Given the description of an element on the screen output the (x, y) to click on. 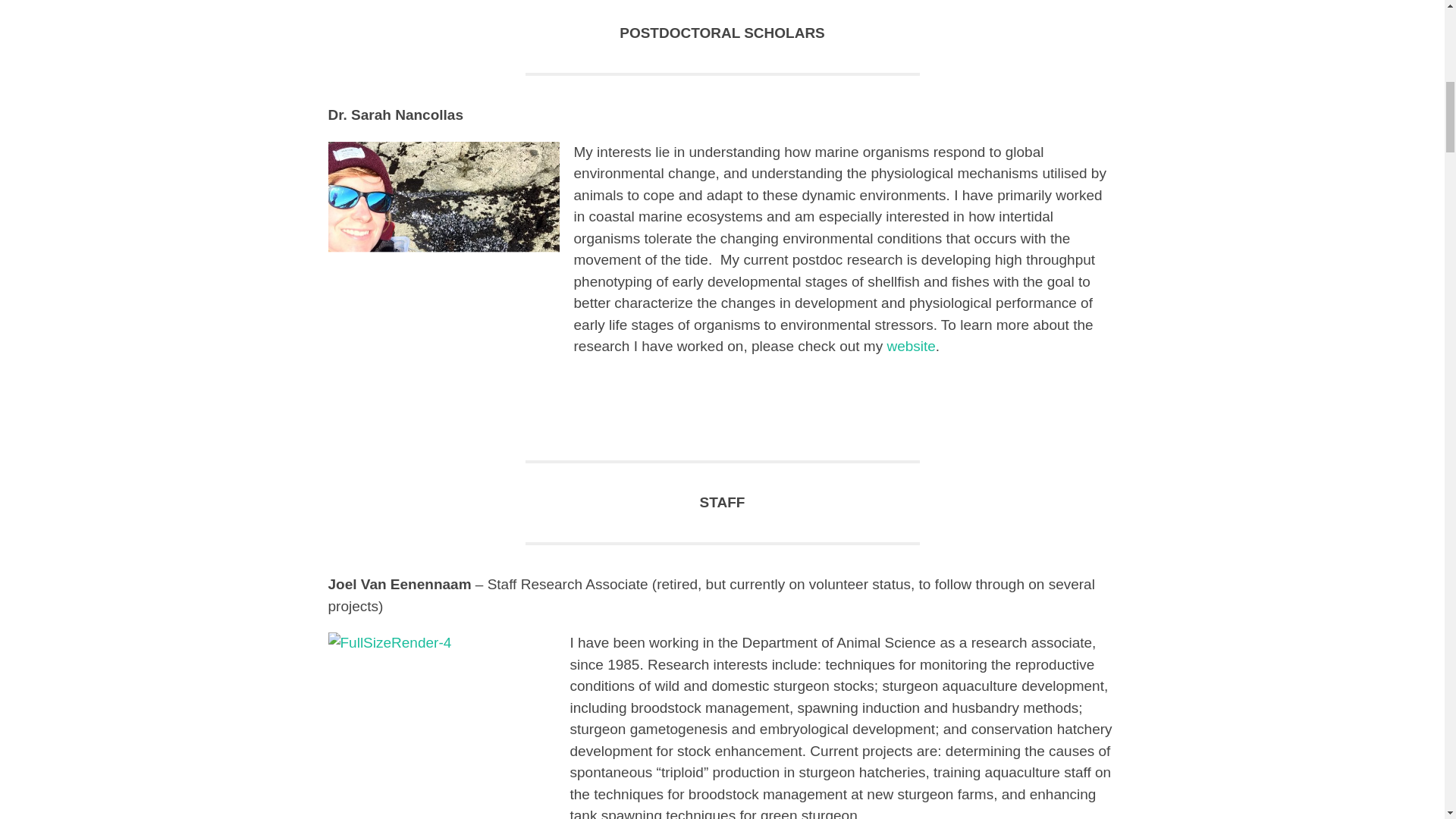
website (910, 345)
